Given the description of an element on the screen output the (x, y) to click on. 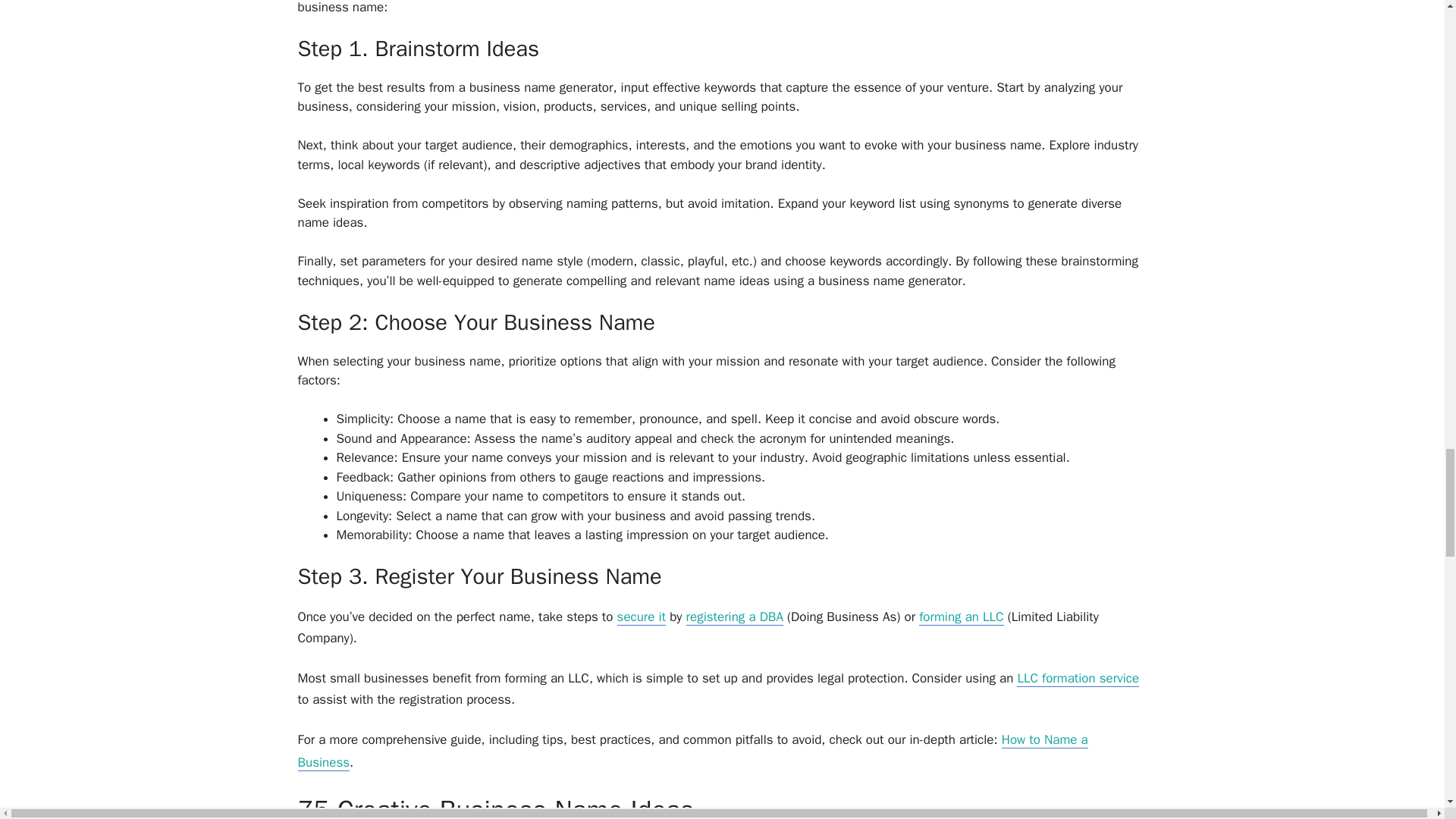
How to Name a Business (692, 751)
LLC formation service (1077, 678)
secure it (641, 617)
forming an LLC (960, 617)
registering a DBA (734, 617)
